Given the description of an element on the screen output the (x, y) to click on. 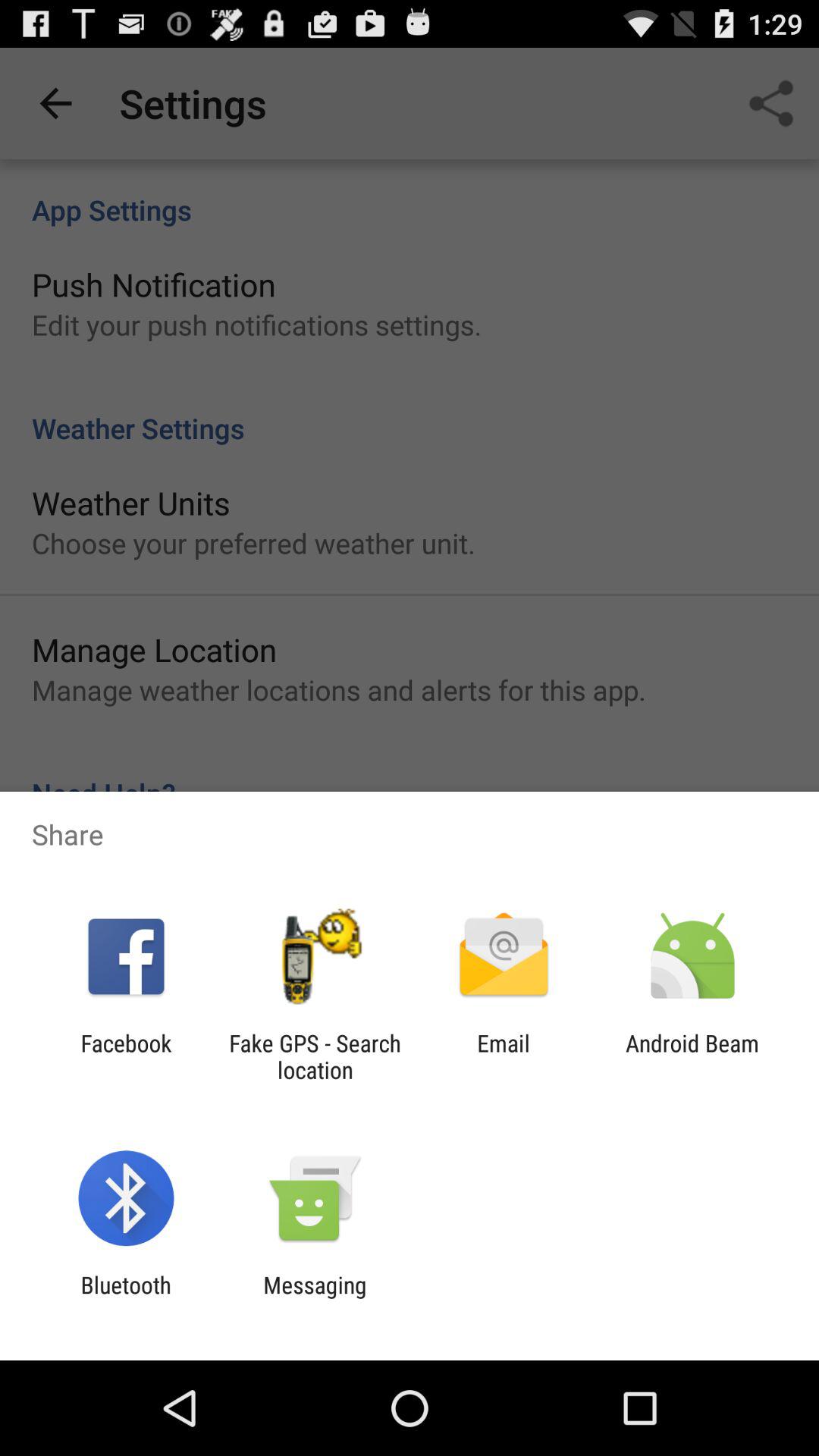
turn off the app next to email item (692, 1056)
